Given the description of an element on the screen output the (x, y) to click on. 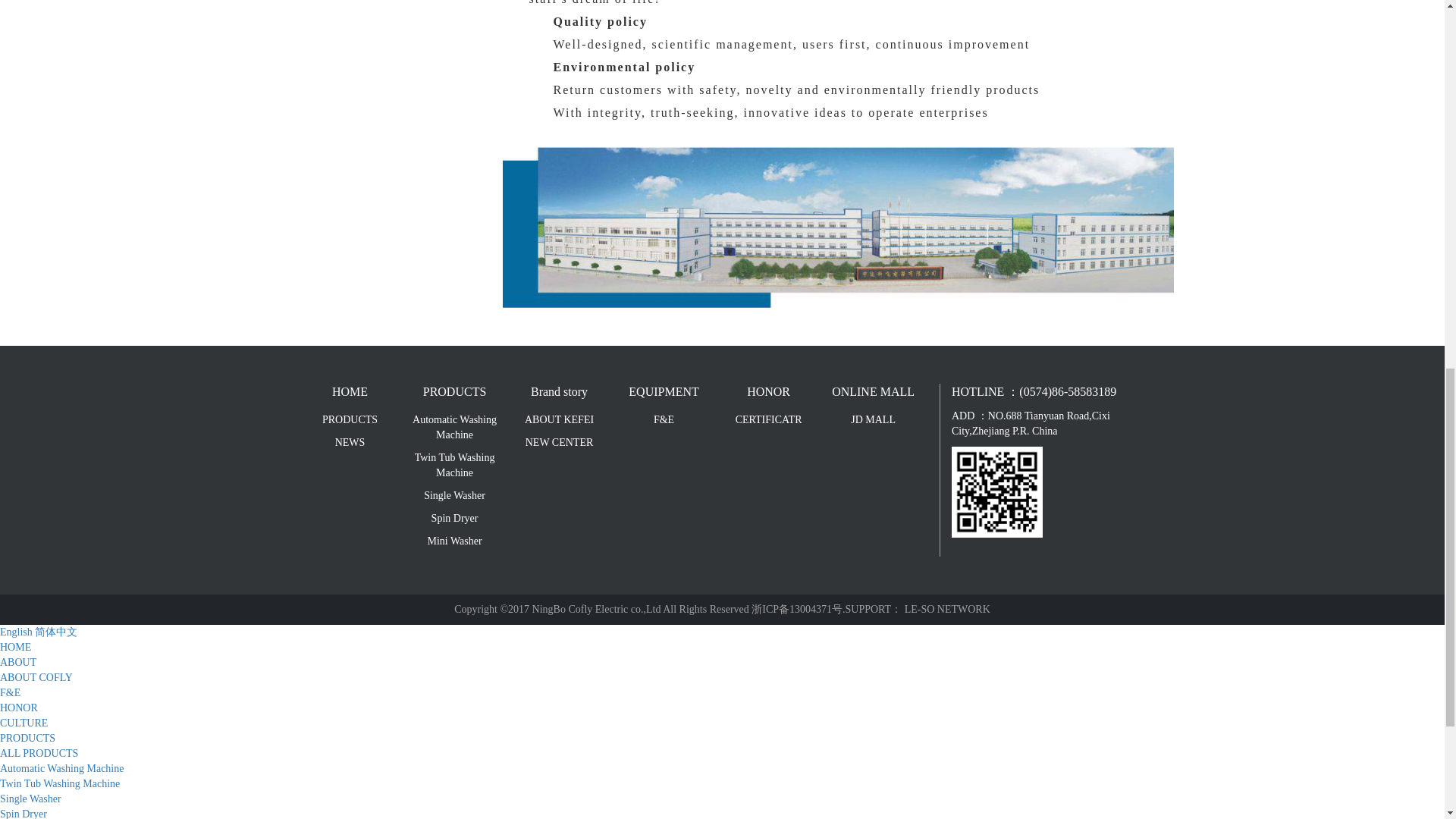
LE-SO NETWORK (947, 609)
Twin Tub Washing Machine (454, 465)
ABOUT KEFEI (558, 419)
HONOR (768, 392)
NEW CENTER (558, 442)
Single Washer (454, 495)
ONLINE MALL (873, 392)
EQUIPMENT (663, 392)
NEWS (349, 442)
Automatic Washing Machine (454, 427)
